Given the description of an element on the screen output the (x, y) to click on. 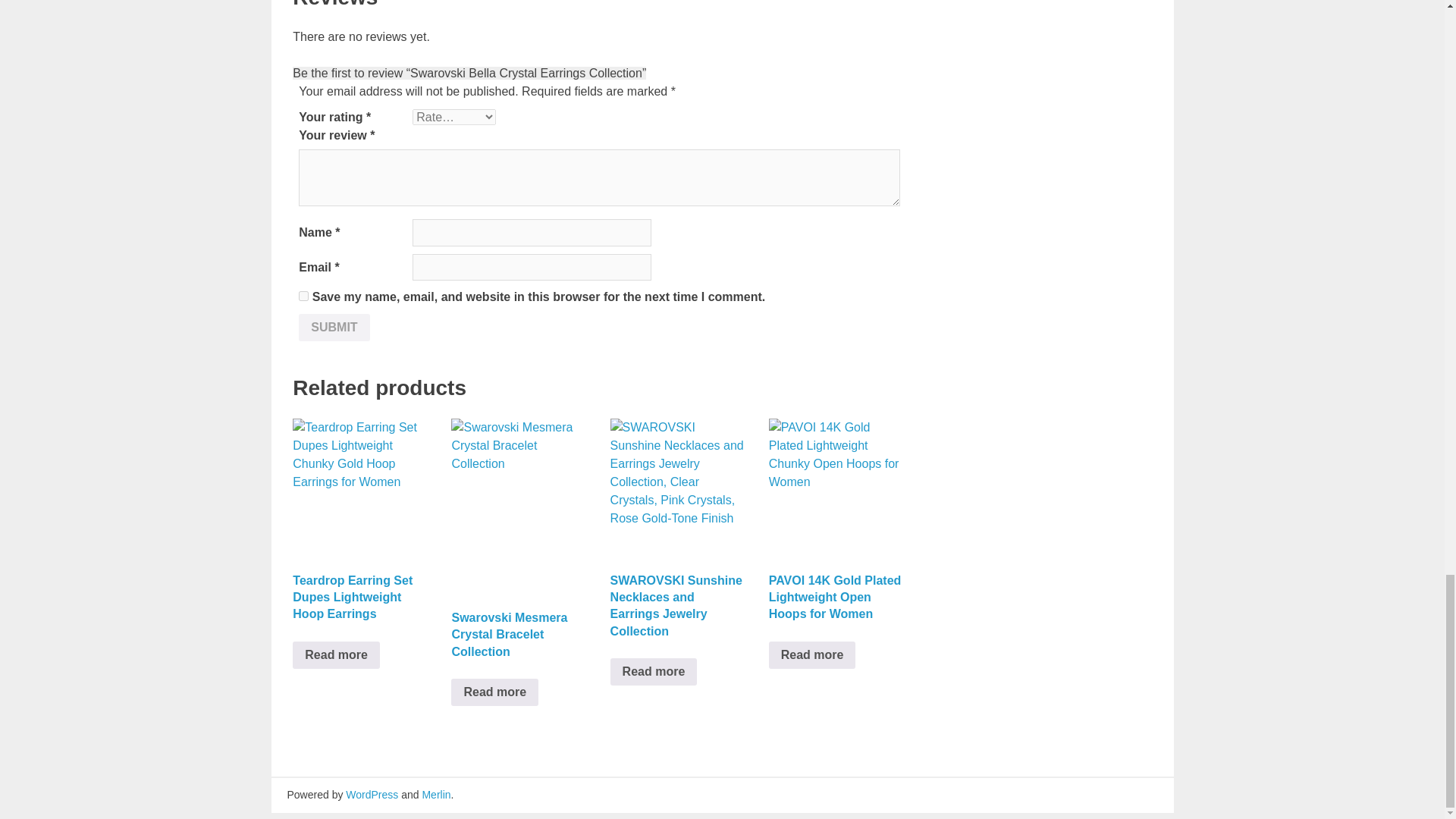
Merlin (435, 794)
Read more (336, 655)
Submit (333, 327)
Read more (812, 655)
WordPress (371, 794)
WordPress (371, 794)
Read more (494, 691)
Submit (333, 327)
Merlin WordPress Theme (435, 794)
yes (303, 296)
Read more (653, 671)
